Given the description of an element on the screen output the (x, y) to click on. 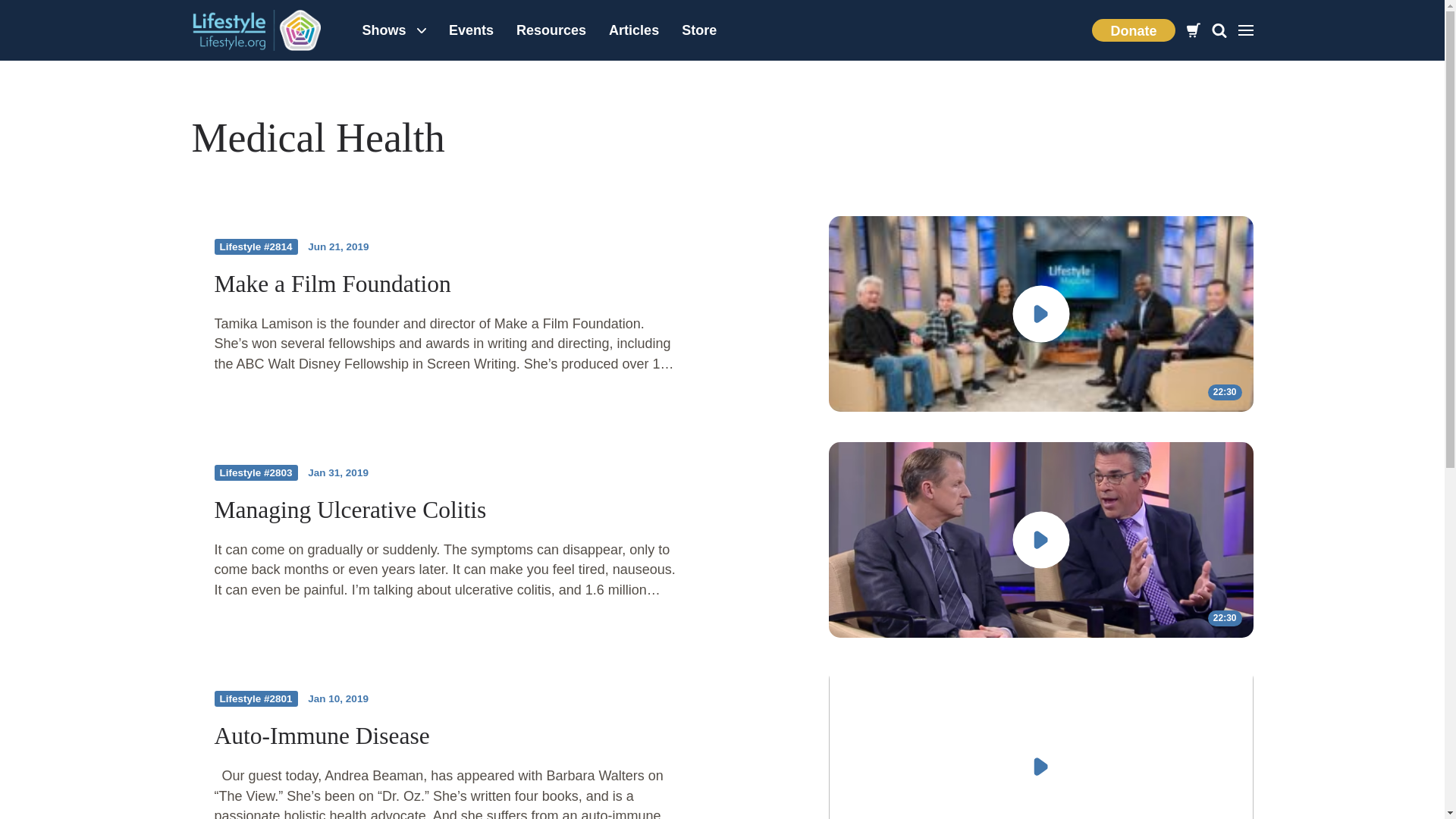
Shows (394, 30)
Make a Film Foundation (331, 284)
Articles (632, 30)
Auto-Immune Disease (321, 735)
Resources (550, 30)
Store (698, 30)
Donate (1133, 29)
Events (471, 30)
Managing Ulcerative Colitis (350, 509)
